Given the description of an element on the screen output the (x, y) to click on. 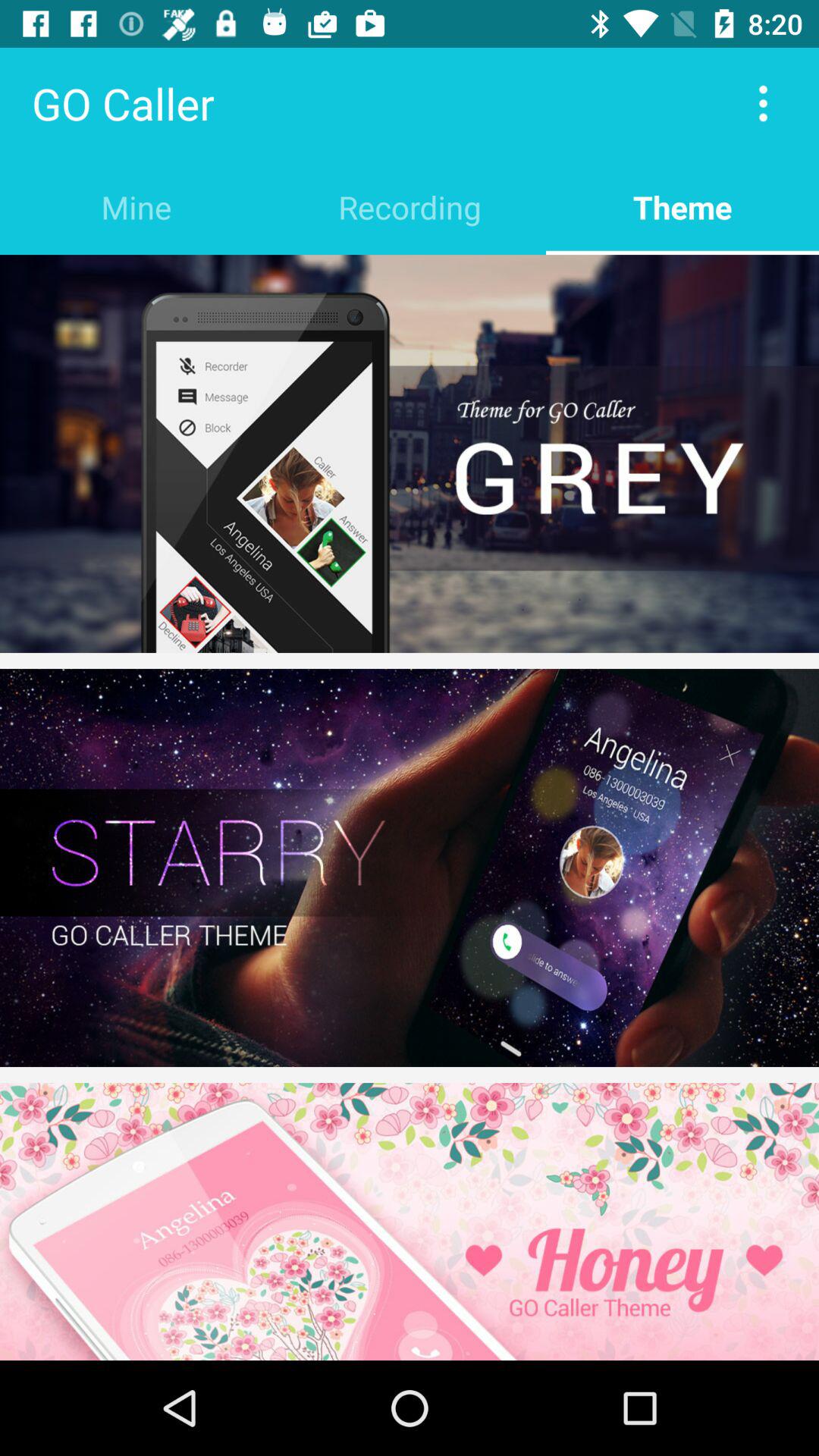
open icon next to recording item (682, 206)
